Given the description of an element on the screen output the (x, y) to click on. 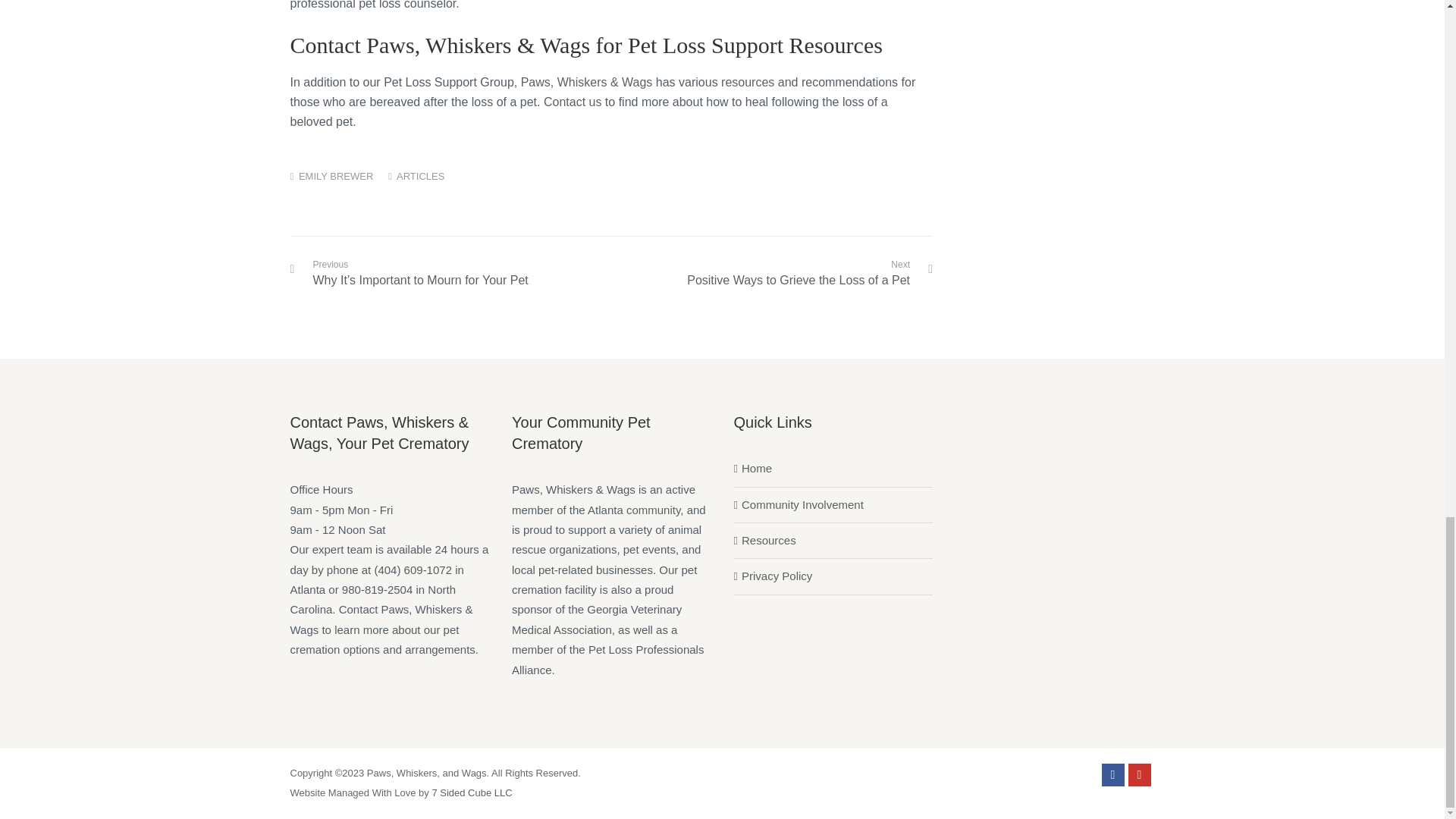
Community (652, 509)
